Given the description of an element on the screen output the (x, y) to click on. 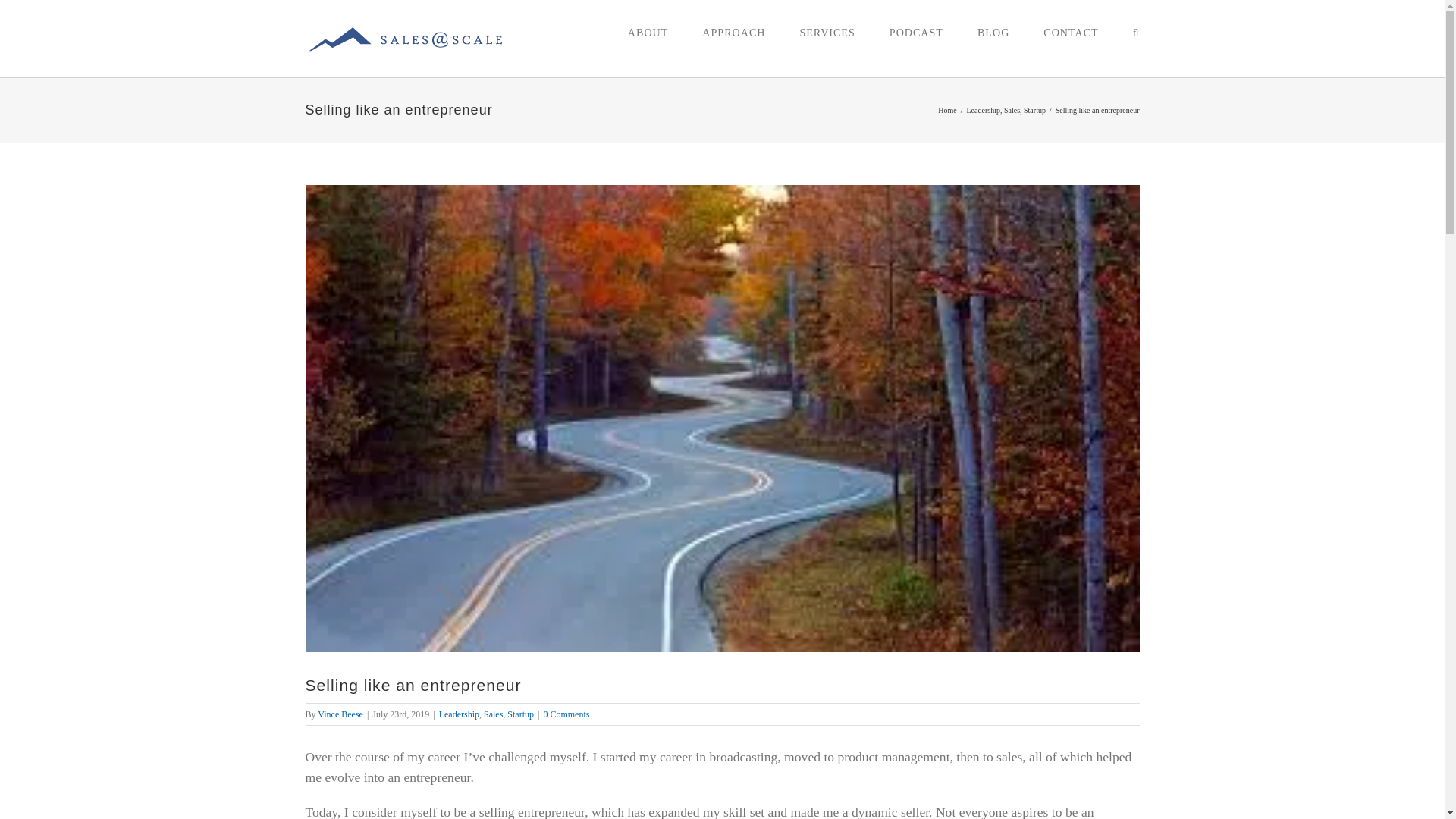
Vince Beese (339, 714)
Home (946, 110)
APPROACH (733, 31)
Posts by Vince Beese (339, 714)
Leadership (459, 714)
Startup (1034, 110)
Sales (1012, 110)
Startup (520, 714)
Sales (492, 714)
Leadership (982, 110)
